Given the description of an element on the screen output the (x, y) to click on. 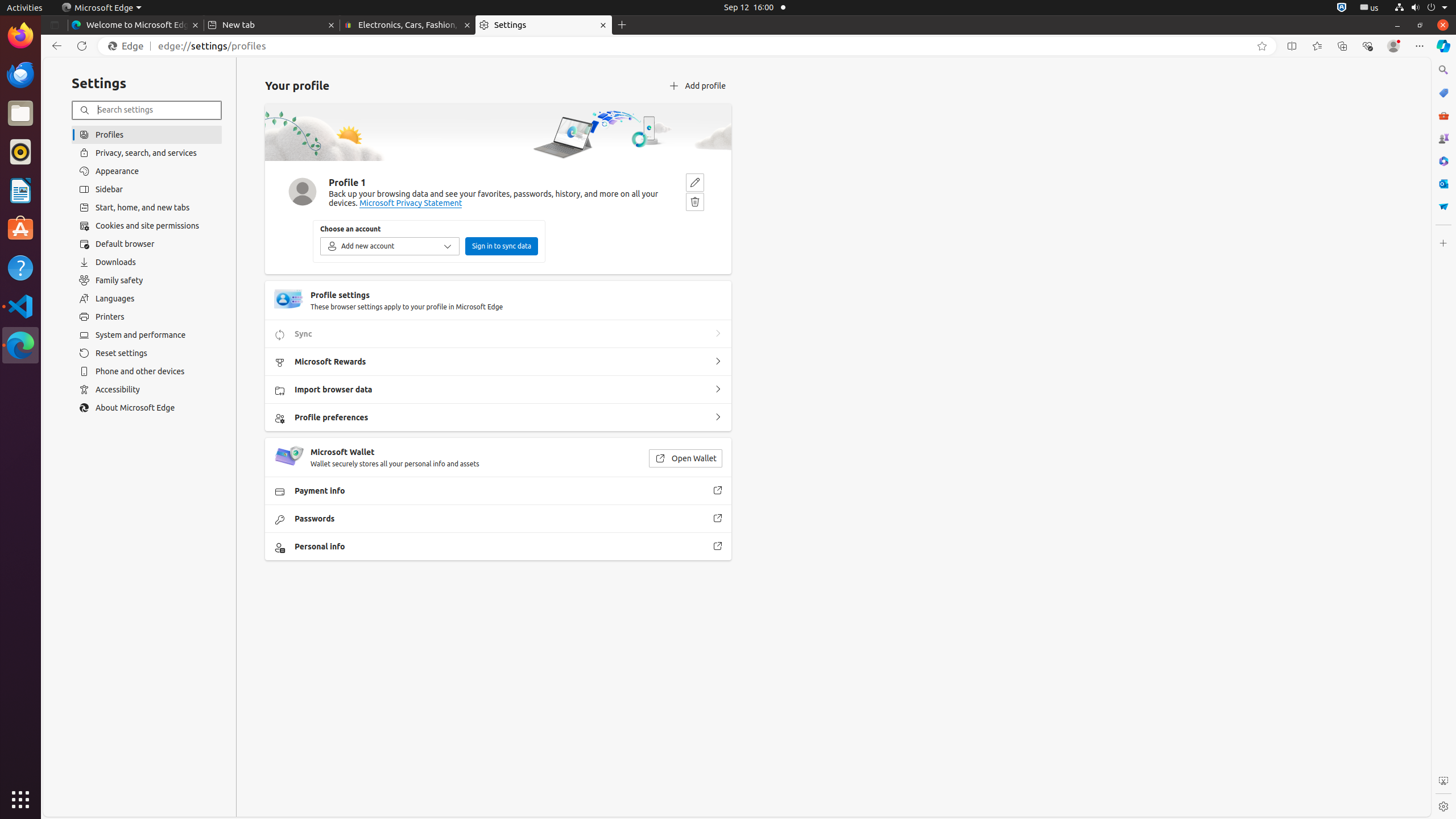
Help Element type: push-button (20, 267)
Microsoft Rewards Element type: push-button (717, 361)
Outlook Element type: push-button (1443, 183)
Refresh Element type: push-button (81, 45)
Start, home, and new tabs Element type: tree-item (146, 207)
